Given the description of an element on the screen output the (x, y) to click on. 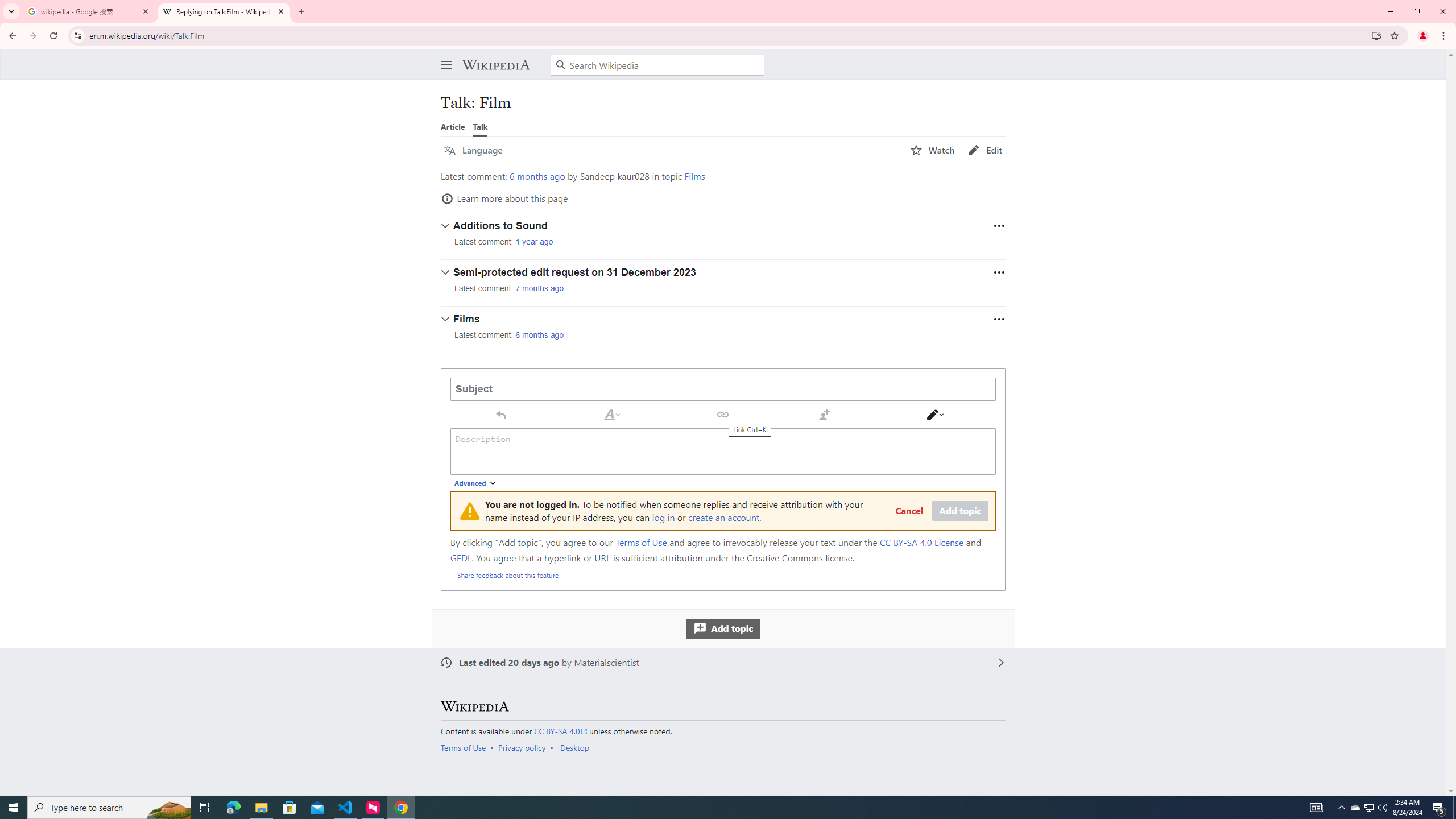
1 year ago (534, 241)
Mention a user (824, 414)
Advanced (475, 483)
Cancel (909, 511)
AutomationID: main-menu-input (443, 55)
Films (694, 176)
Learn more about this page (504, 198)
Talk (480, 126)
